Given the description of an element on the screen output the (x, y) to click on. 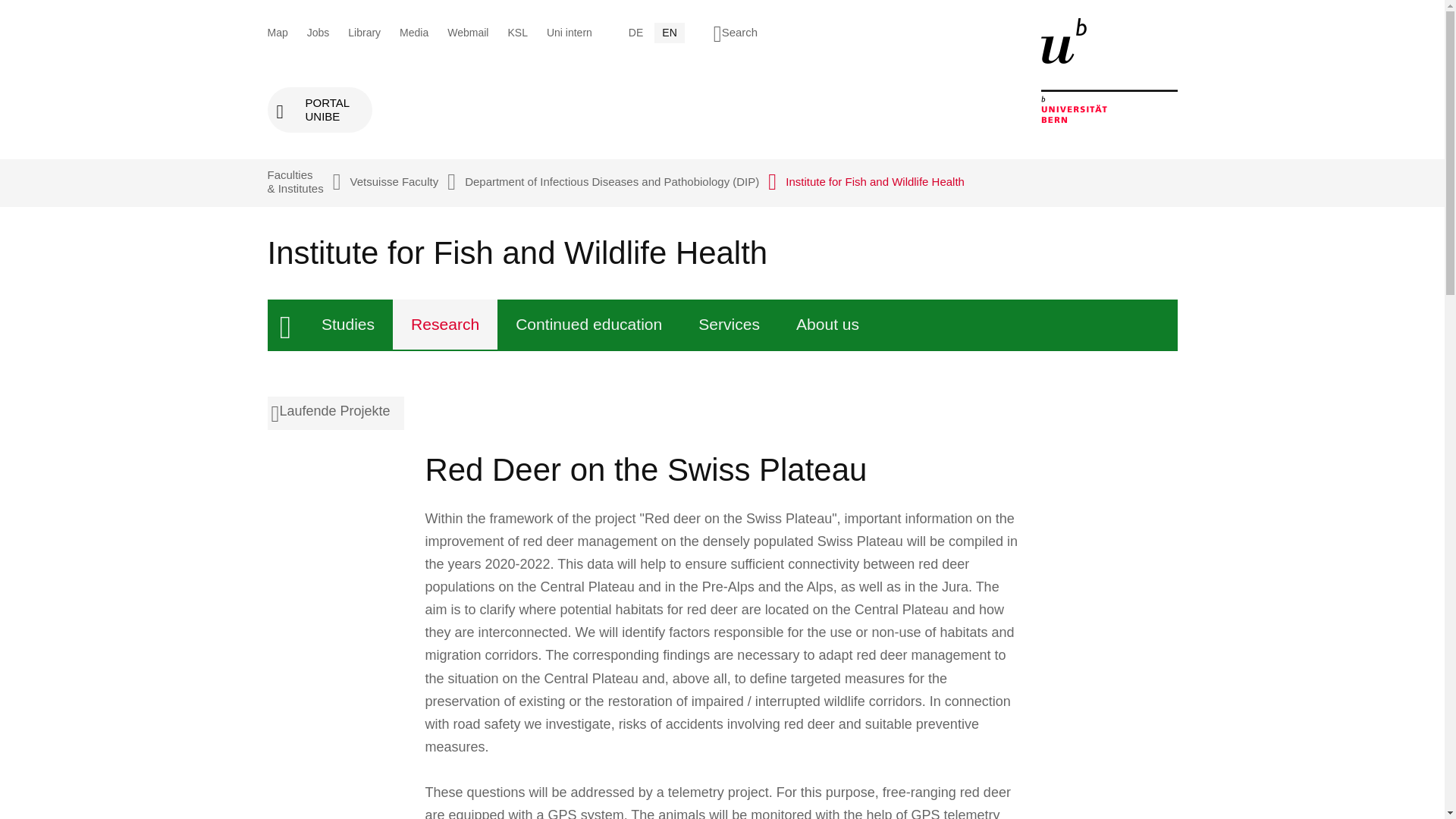
Services (728, 324)
About us (827, 324)
Vetsuisse Faculty (394, 182)
Laufende Projekte (319, 109)
Continued education (334, 412)
Startseite (588, 324)
Studies (445, 324)
